Given the description of an element on the screen output the (x, y) to click on. 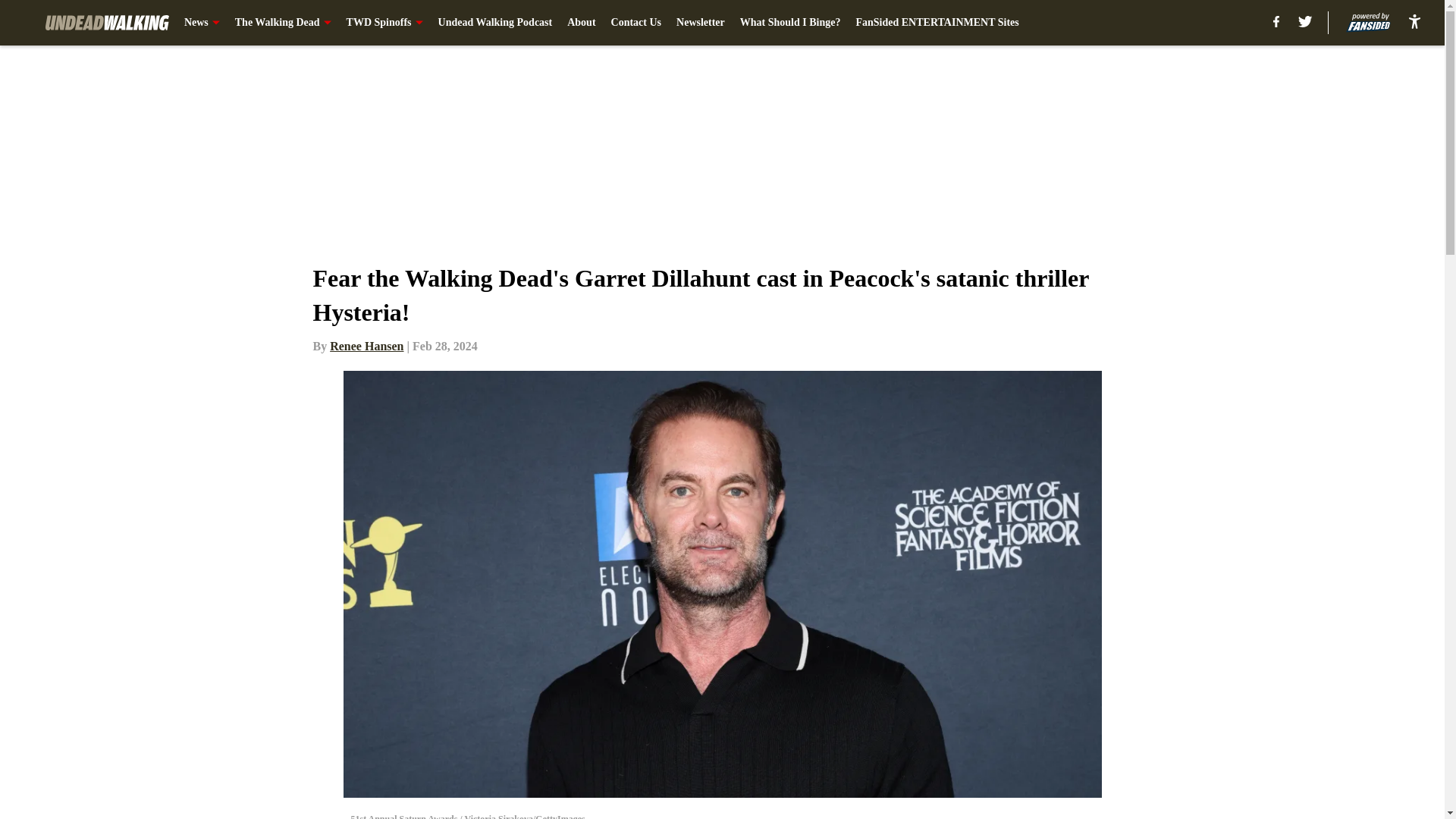
Contact Us (636, 22)
What Should I Binge? (790, 22)
FanSided ENTERTAINMENT Sites (936, 22)
Newsletter (701, 22)
About (581, 22)
Undead Walking Podcast (495, 22)
Renee Hansen (366, 345)
